Given the description of an element on the screen output the (x, y) to click on. 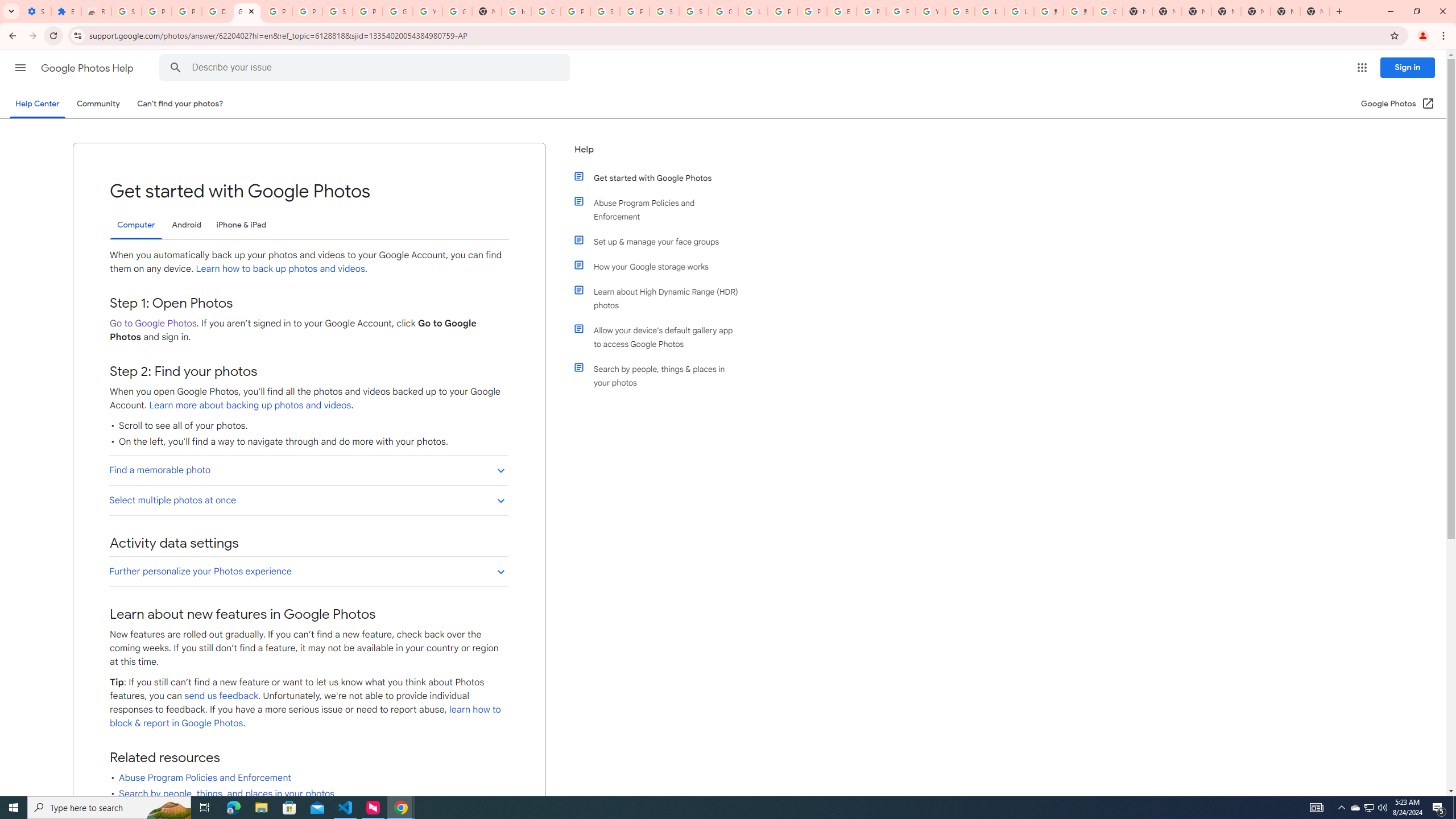
Abuse Program Policies and Enforcement (661, 209)
Search by people, things & places in your photos (661, 375)
Search by people, things, and places in your photos (226, 793)
Further personalize your Photos experience (308, 571)
Help Center (36, 103)
Describe your issue (366, 67)
Computer (136, 225)
